Given the description of an element on the screen output the (x, y) to click on. 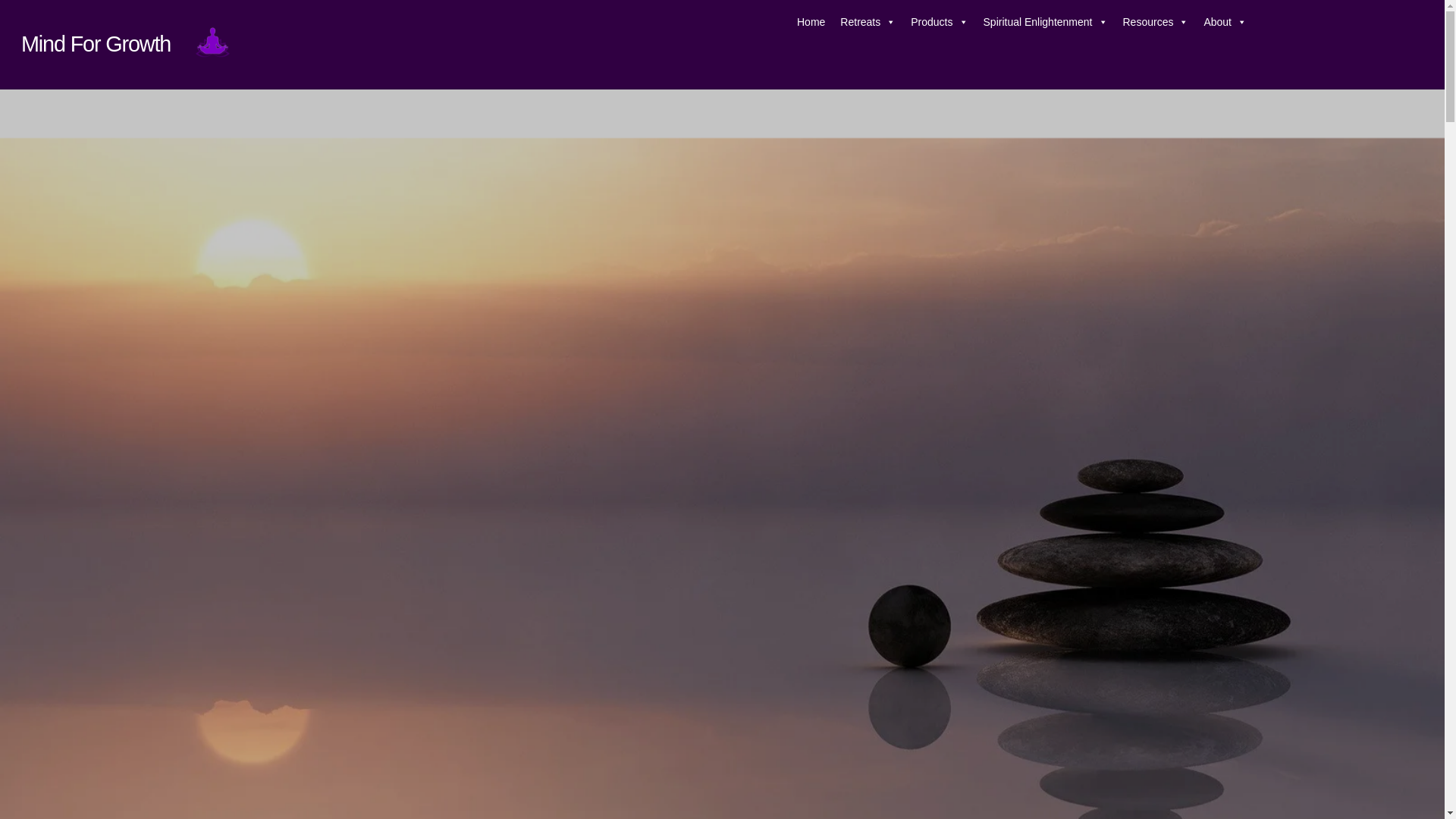
Mind For Growth (95, 43)
Resources (1155, 20)
Spiritual Enlightenment (1045, 20)
Mind For Growth (95, 43)
Products (938, 20)
The Spiritual Enlightenment Company (212, 43)
Retreats (867, 20)
Home (810, 20)
About (1224, 20)
